Given the description of an element on the screen output the (x, y) to click on. 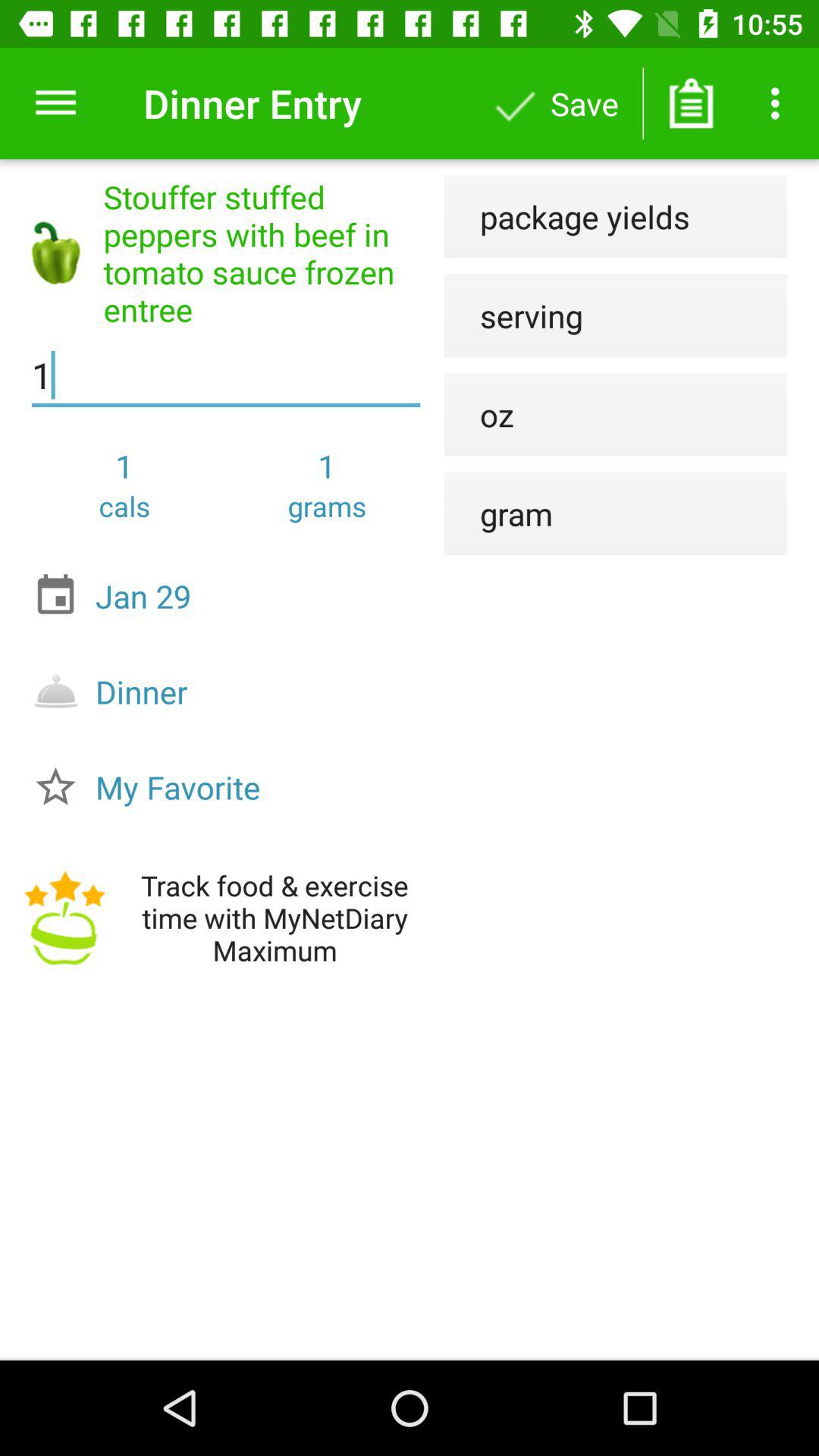
choose icon above stouffer stuffed peppers item (55, 103)
